Given the description of an element on the screen output the (x, y) to click on. 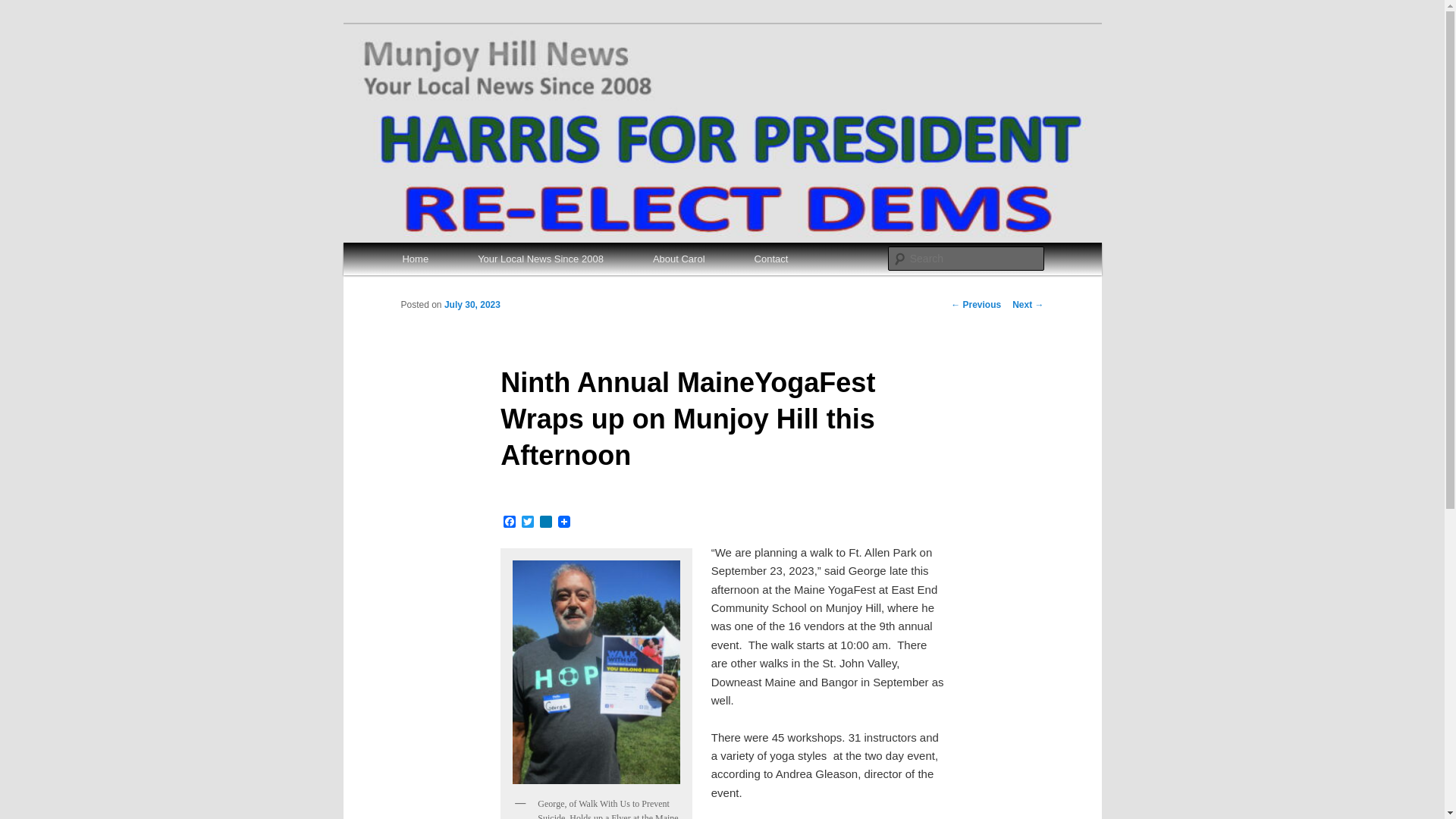
July 30, 2023 (472, 304)
About Carol (678, 258)
LinkedIn (545, 522)
Contact (770, 258)
LinkedIn (545, 522)
Search (24, 8)
Munjoy Hill News (494, 78)
Twitter (527, 522)
Facebook (509, 522)
Home (414, 258)
